Given the description of an element on the screen output the (x, y) to click on. 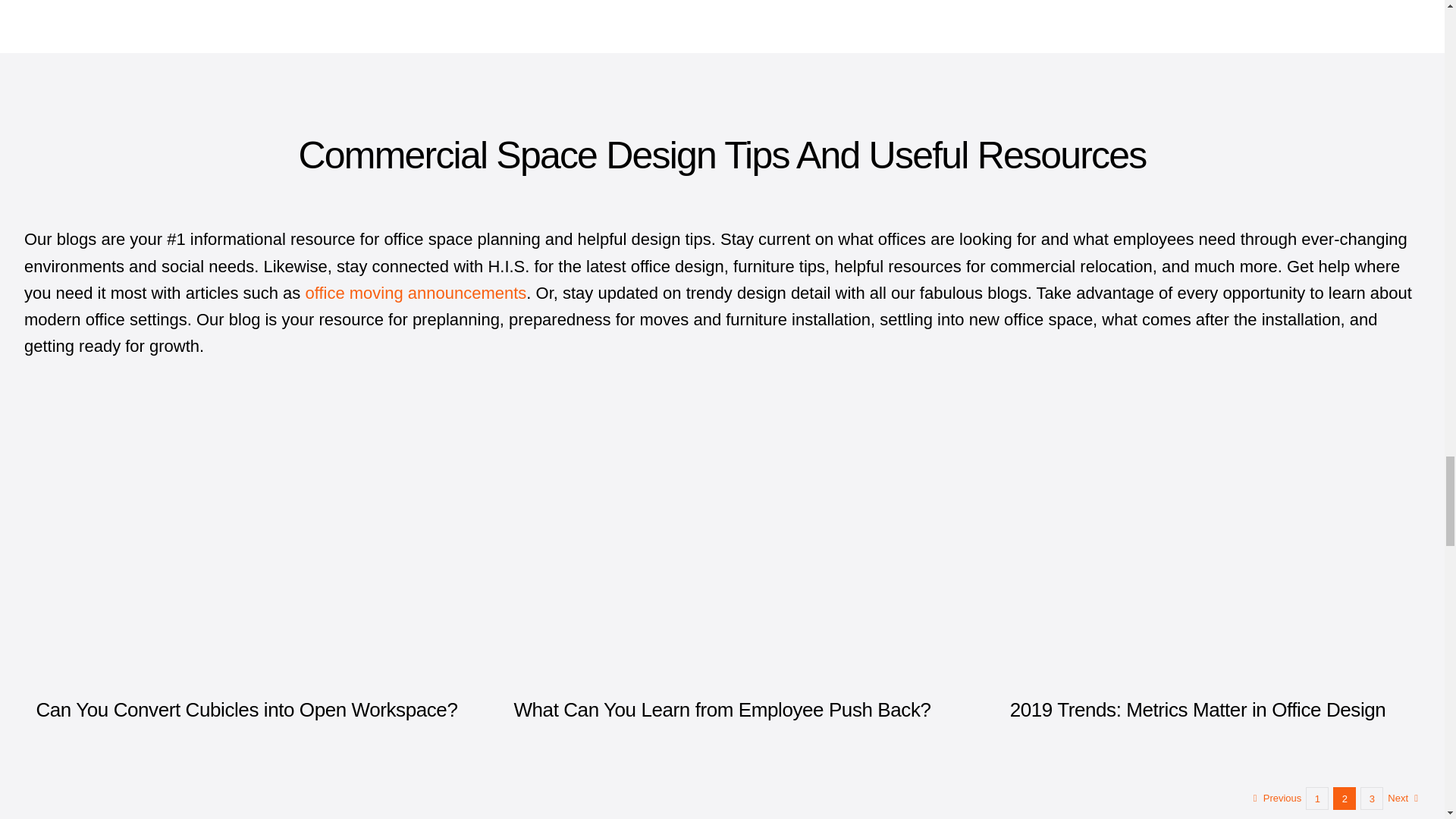
2019 Trends: Metrics Matter in Office Design (1198, 709)
Previous (1282, 798)
What Can You Learn from Employee Push Back? (721, 709)
office moving announcements (414, 292)
Can You Convert Cubicles into Open Workspace? (245, 709)
